Given the description of an element on the screen output the (x, y) to click on. 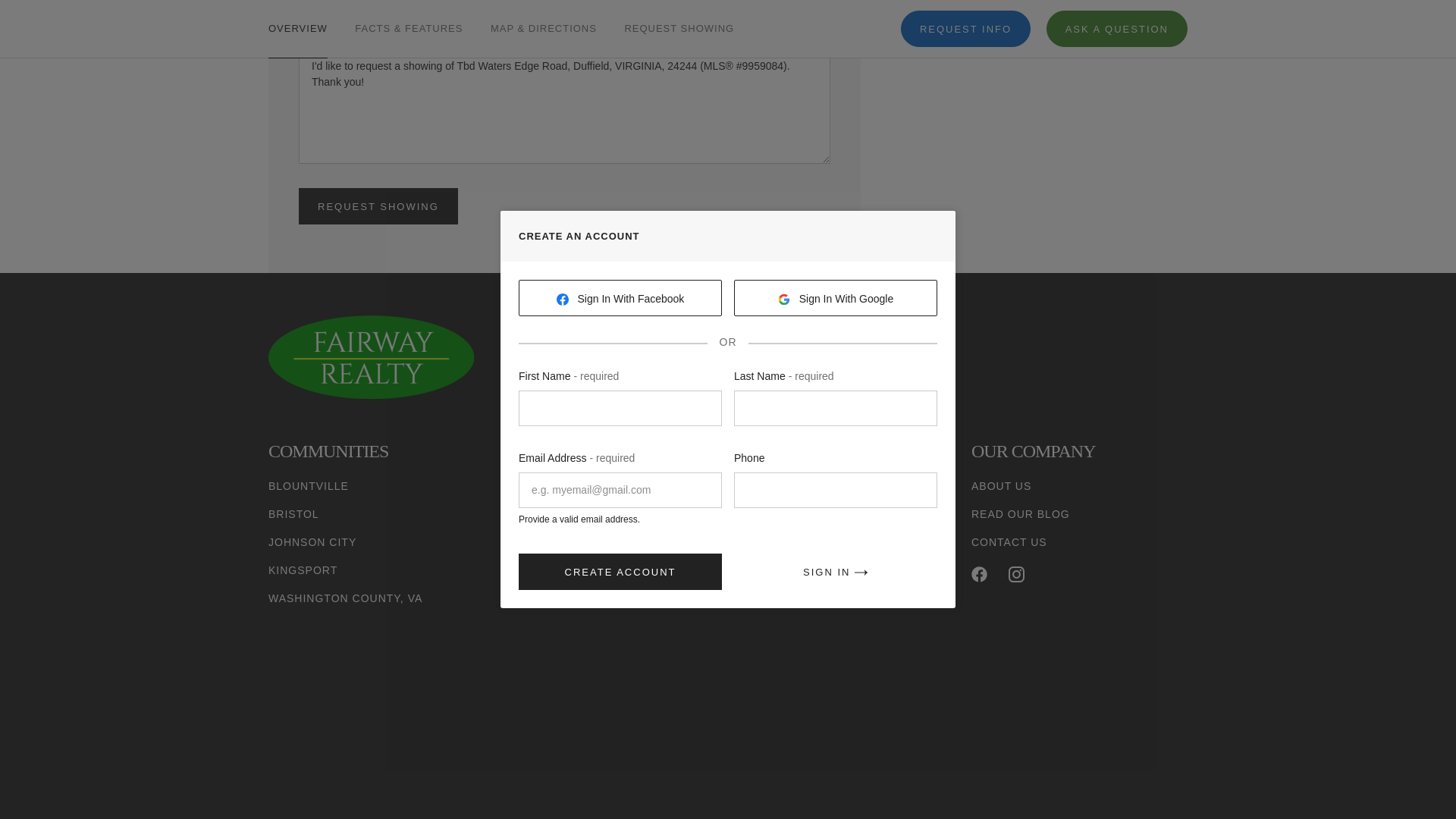
FACEBOOK (979, 574)
